Given the description of an element on the screen output the (x, y) to click on. 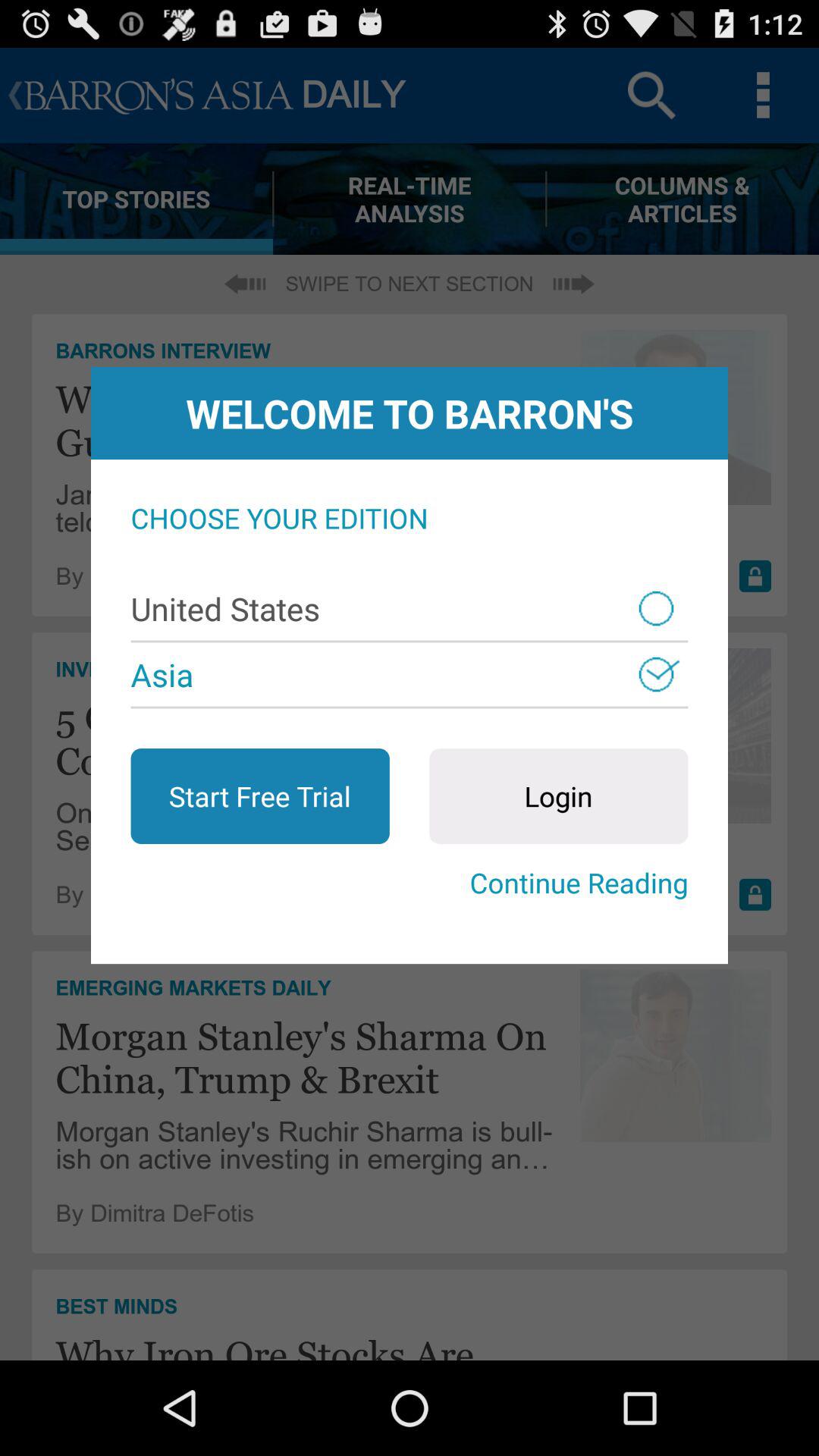
press the asia item (409, 674)
